Given the description of an element on the screen output the (x, y) to click on. 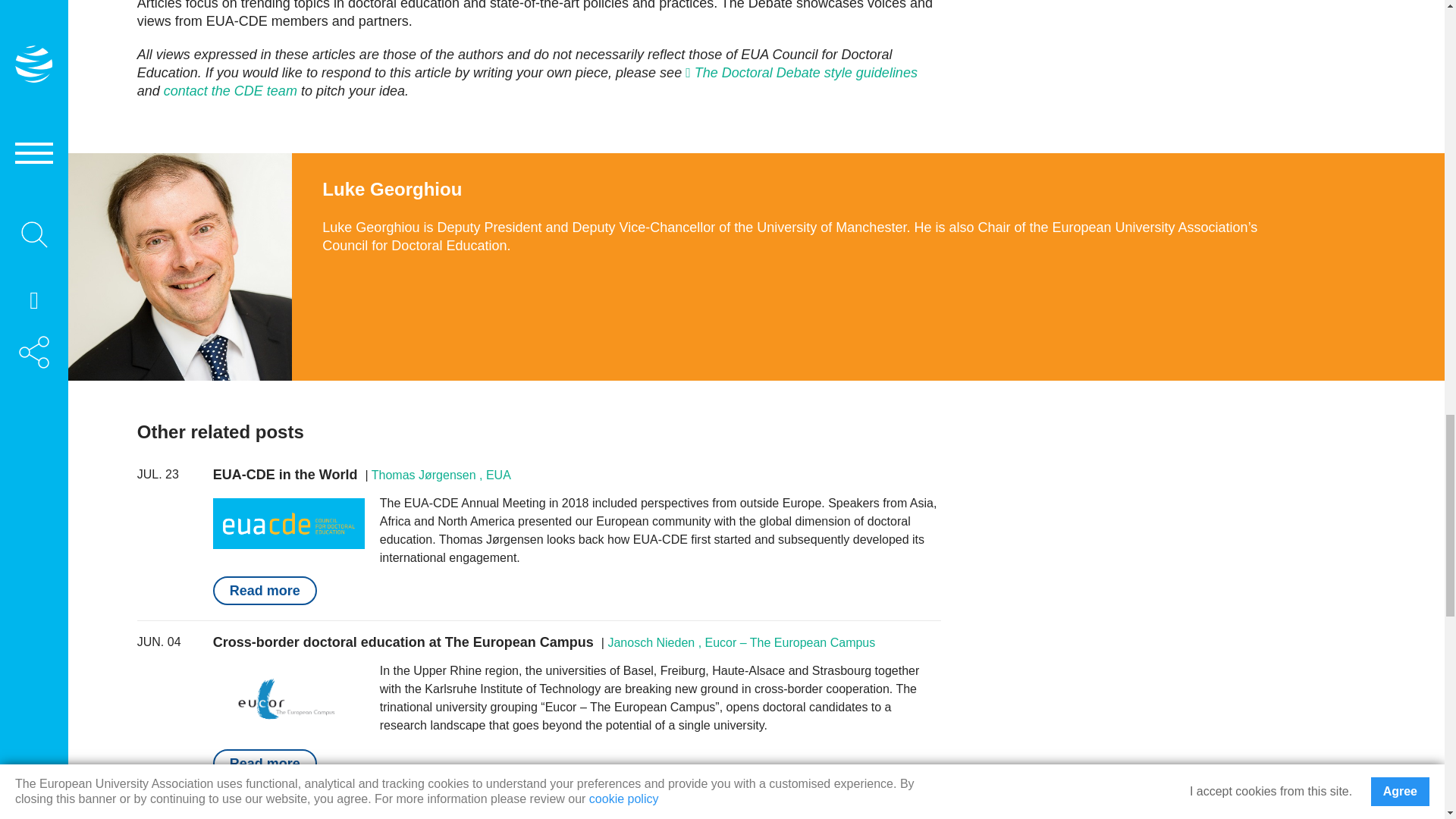
Read more (264, 763)
EUA-CDE in the World (285, 474)
Further developing doctoral supervision training in Europe (403, 812)
contact the CDE team (230, 90)
Read more (264, 590)
Cross-border doctoral education at The European Campus (403, 642)
The Doctoral Debate style guidelines (801, 72)
